Given the description of an element on the screen output the (x, y) to click on. 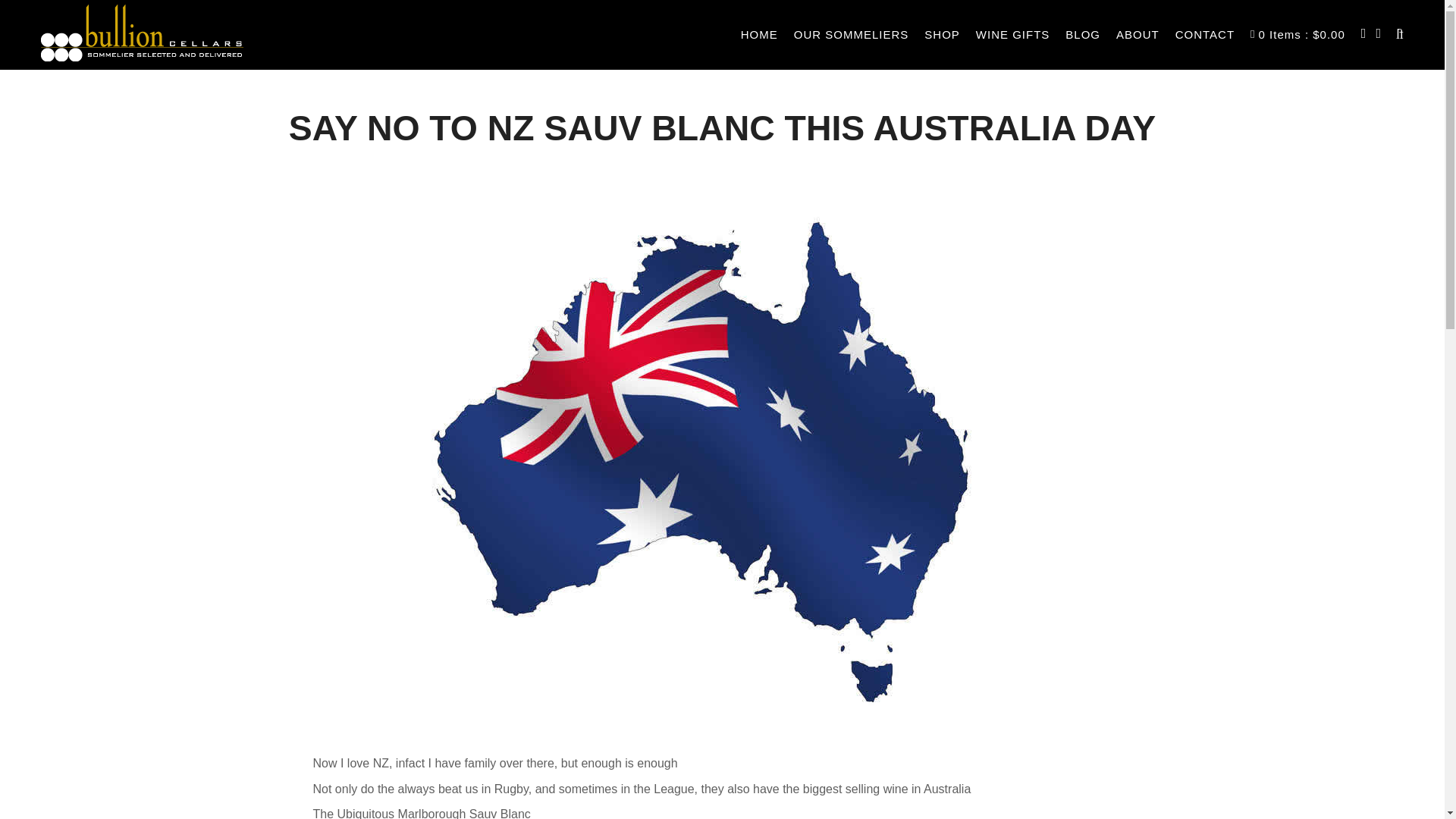
OUR SOMMELIERS (851, 34)
WINE GIFTS (1013, 34)
CONTACT (1204, 34)
